Given the description of an element on the screen output the (x, y) to click on. 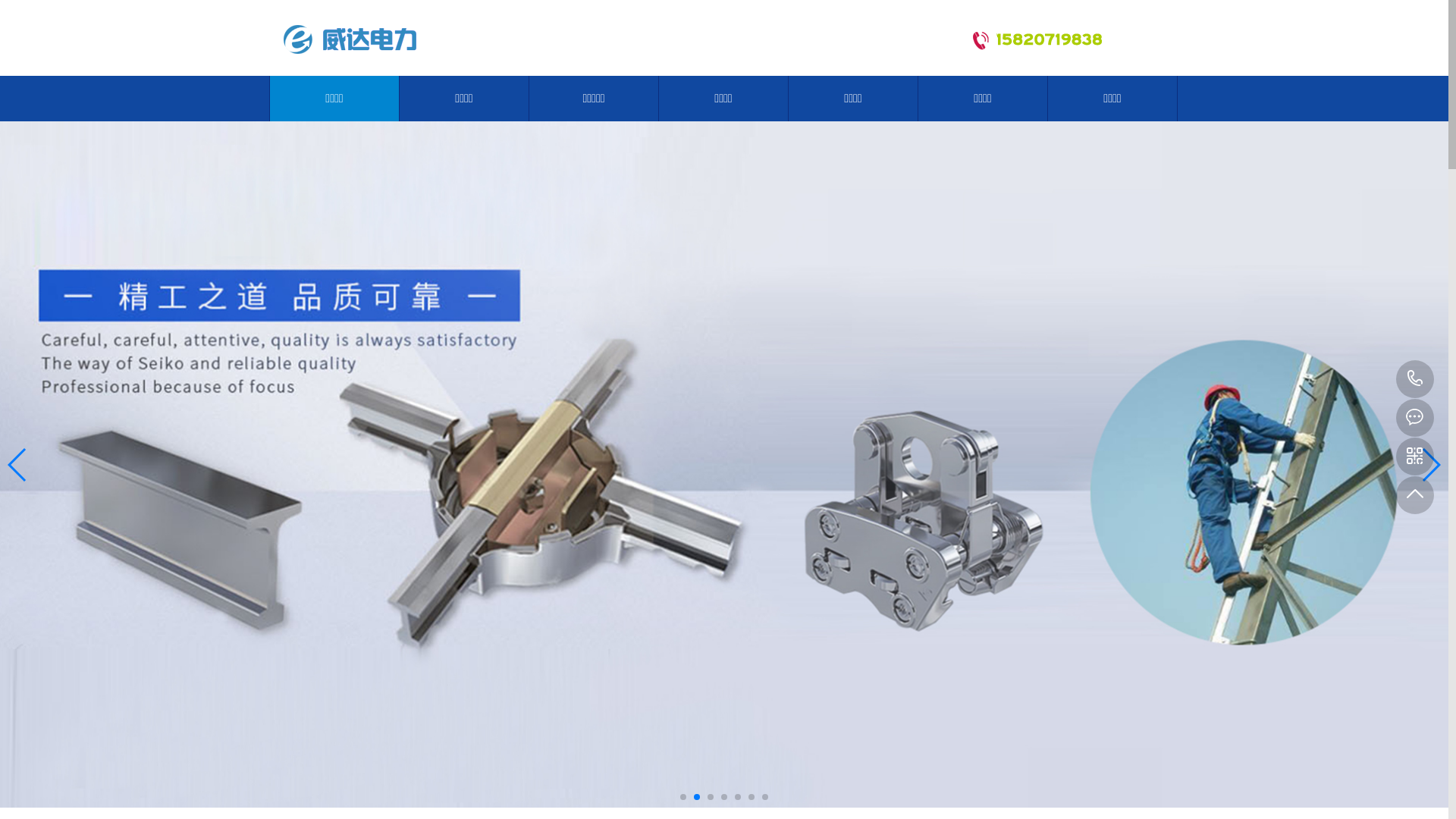
15820719838 Element type: text (1415, 379)
